Given the description of an element on the screen output the (x, y) to click on. 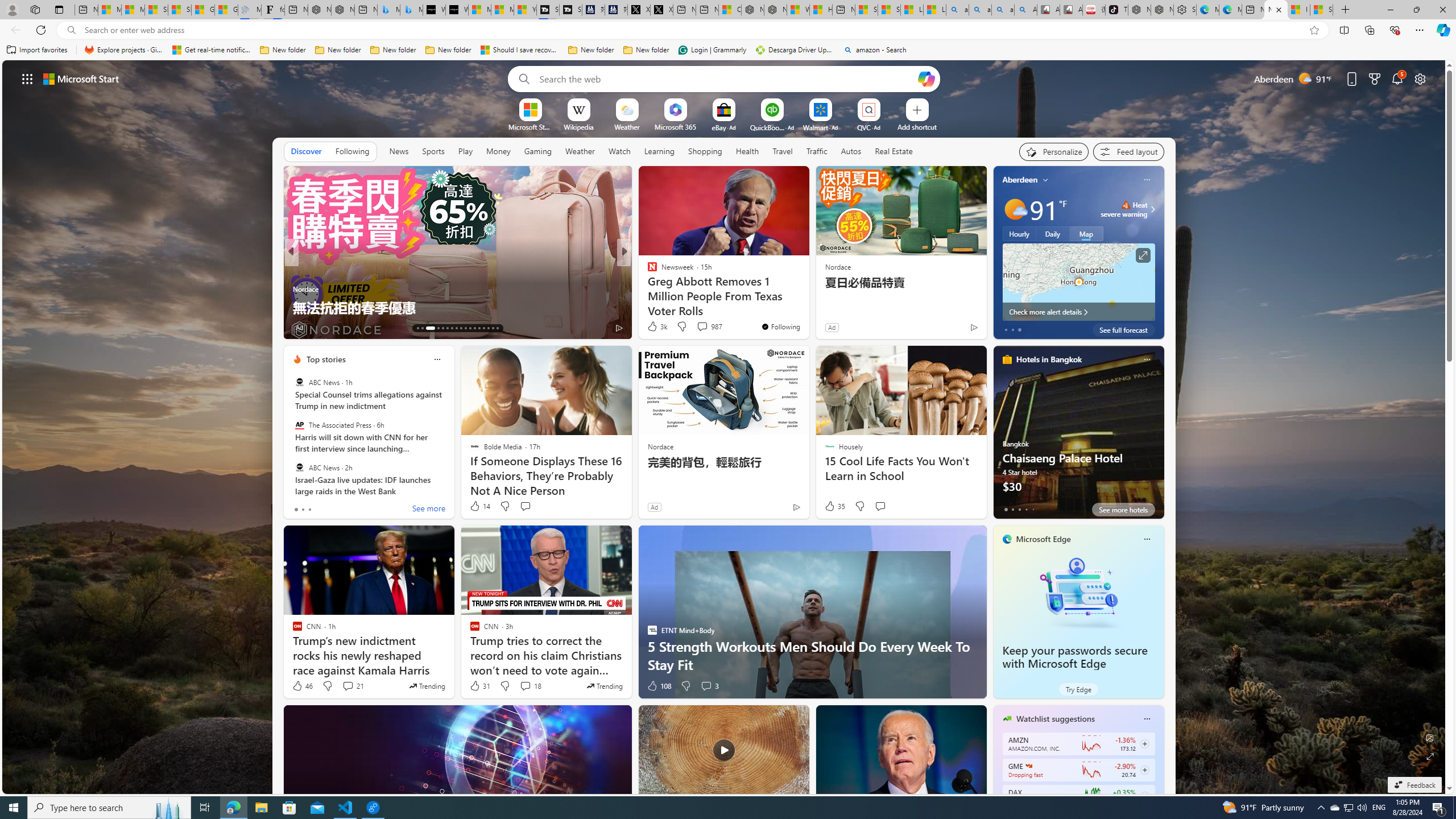
View comments 1 Comment (702, 327)
AutomationID: backgroundImagePicture (723, 426)
Feed settings (1128, 151)
View comments 251 Comment (703, 327)
